Given the description of an element on the screen output the (x, y) to click on. 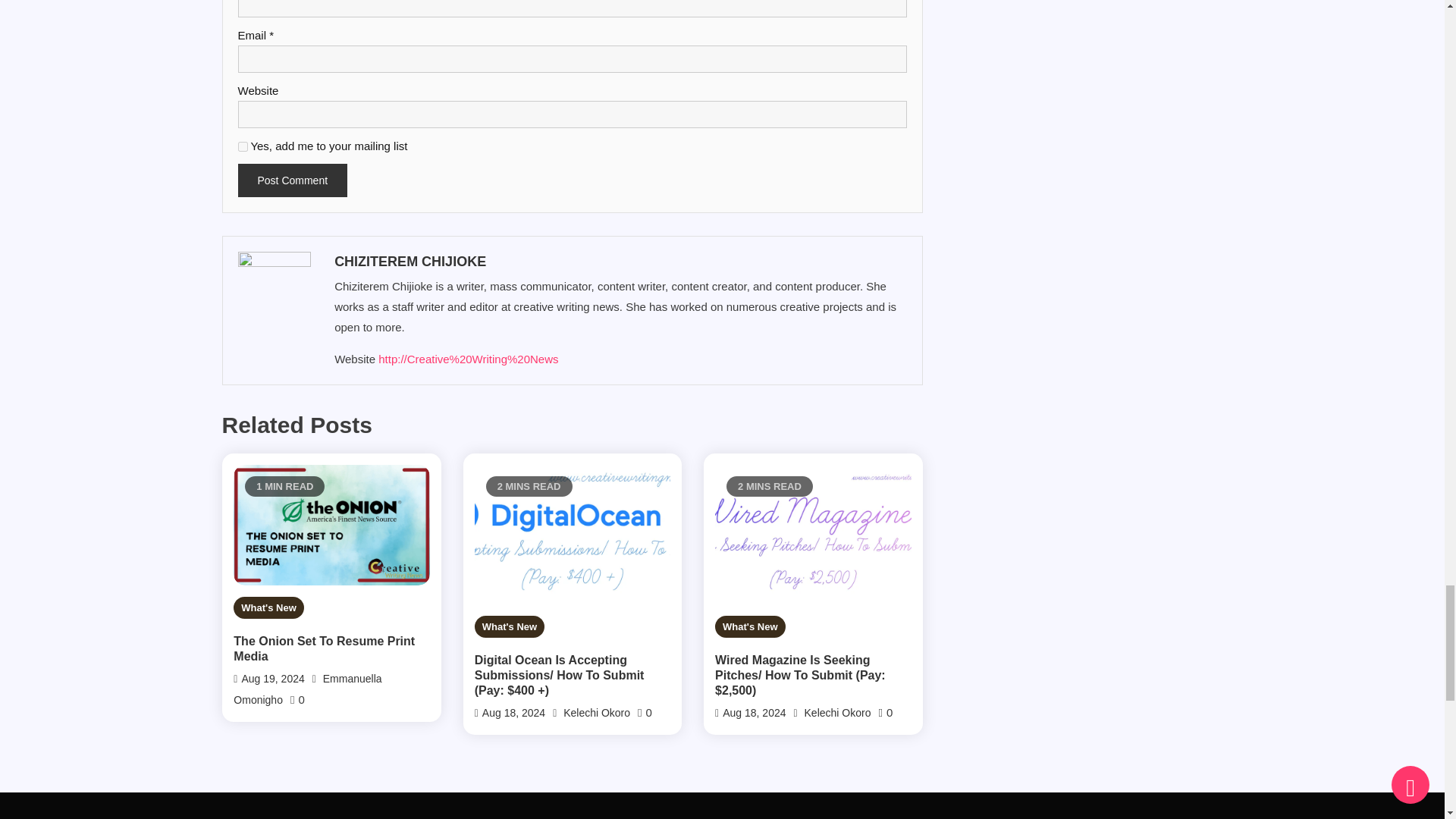
Post Comment (292, 180)
1 (242, 146)
Posts by Chiziterem Chijioke (618, 261)
